Given the description of an element on the screen output the (x, y) to click on. 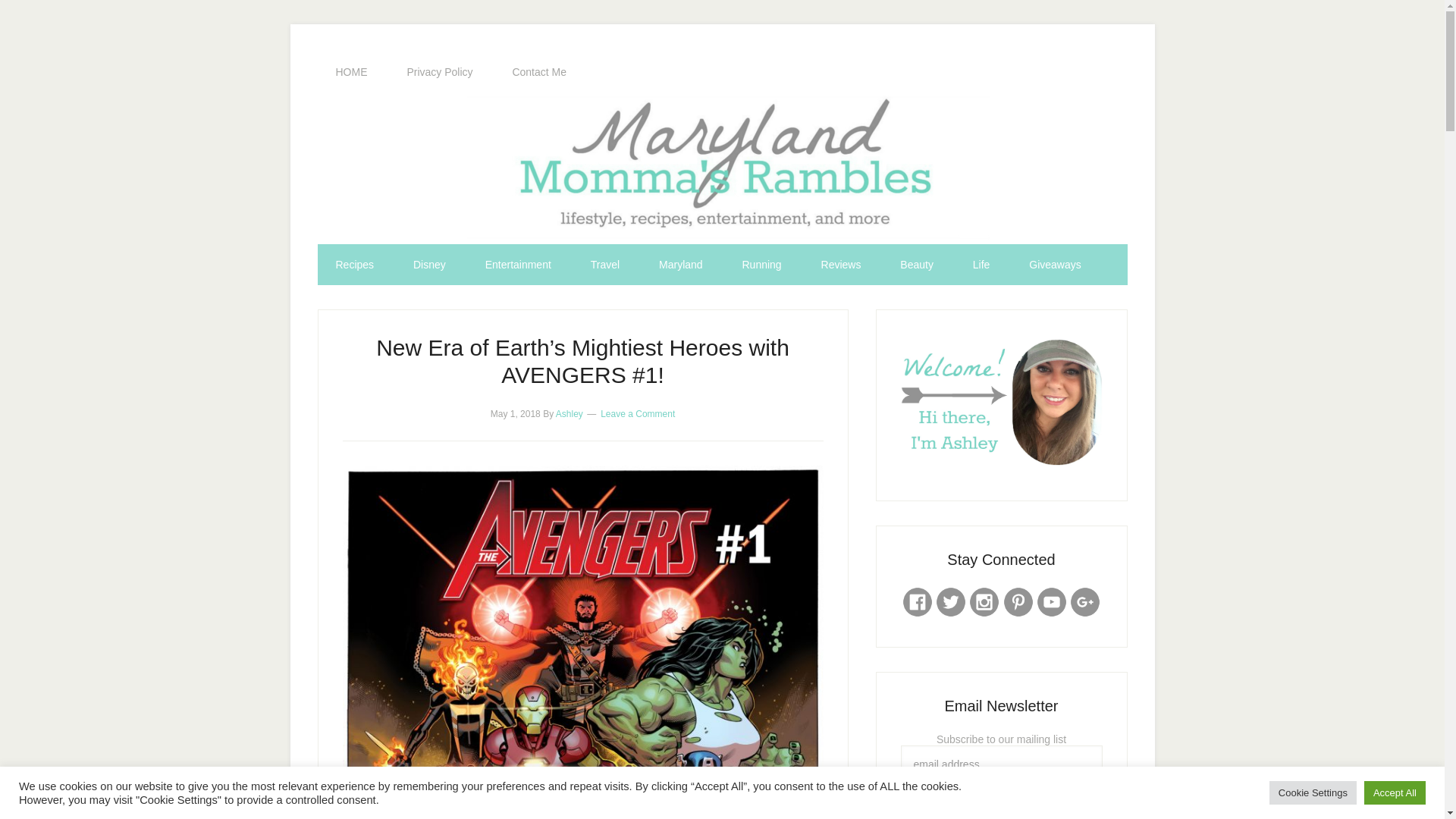
HOME (351, 71)
Disney (429, 264)
Running (761, 264)
Giveaways (1054, 264)
Ashley (569, 413)
Subscribe (1000, 800)
Life (982, 264)
Contact Me (539, 71)
Entertainment (518, 264)
Travel (604, 264)
Leave a Comment (637, 413)
Maryland Momma's Rambles (721, 168)
Reviews (841, 264)
Recipes (354, 264)
Privacy Policy (439, 71)
